Given the description of an element on the screen output the (x, y) to click on. 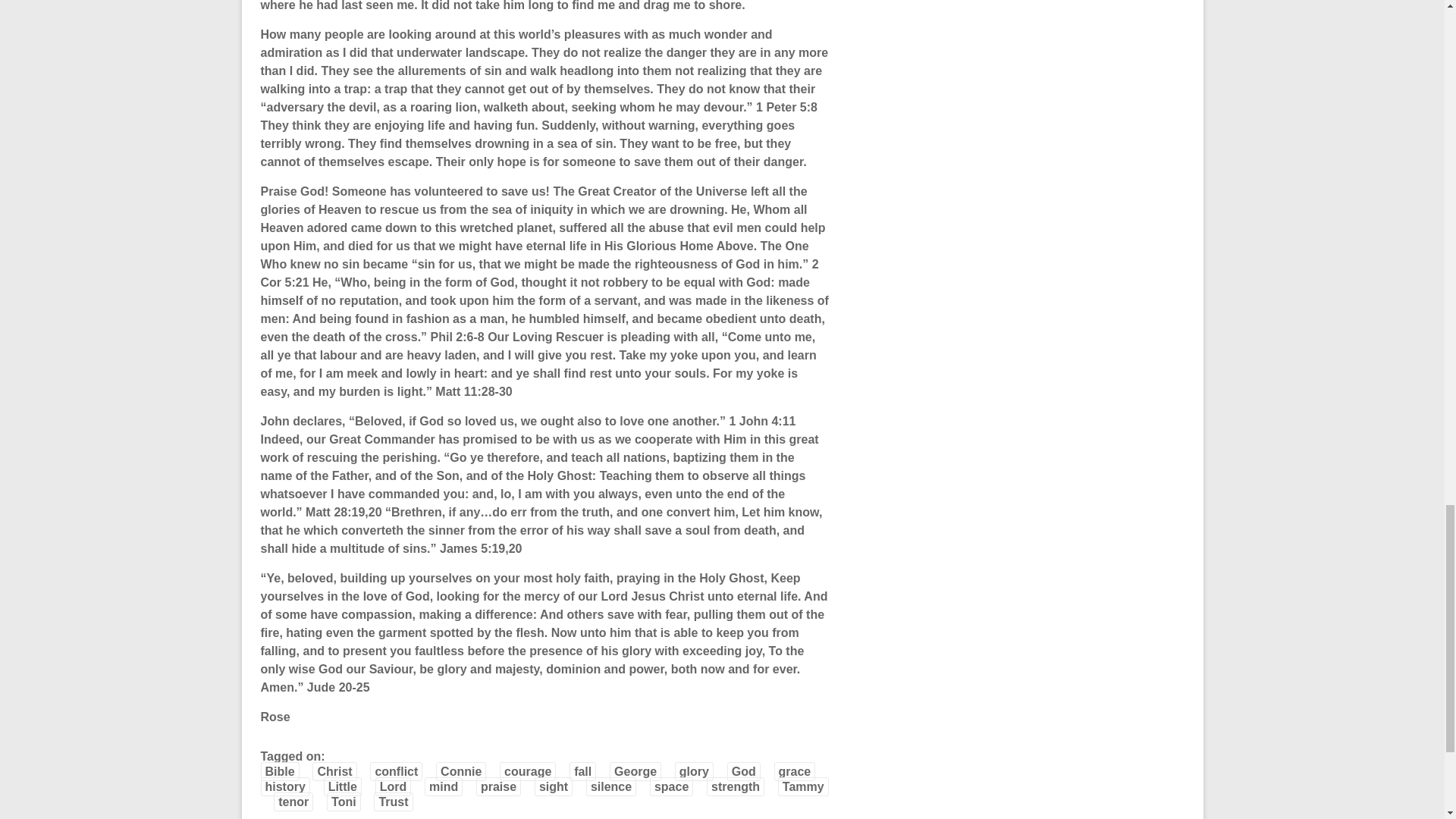
God (743, 771)
praise (498, 786)
silence (611, 786)
strength (735, 786)
space (671, 786)
Connie (460, 771)
grace (794, 771)
Trust (393, 801)
courage (527, 771)
history (285, 786)
